Given the description of an element on the screen output the (x, y) to click on. 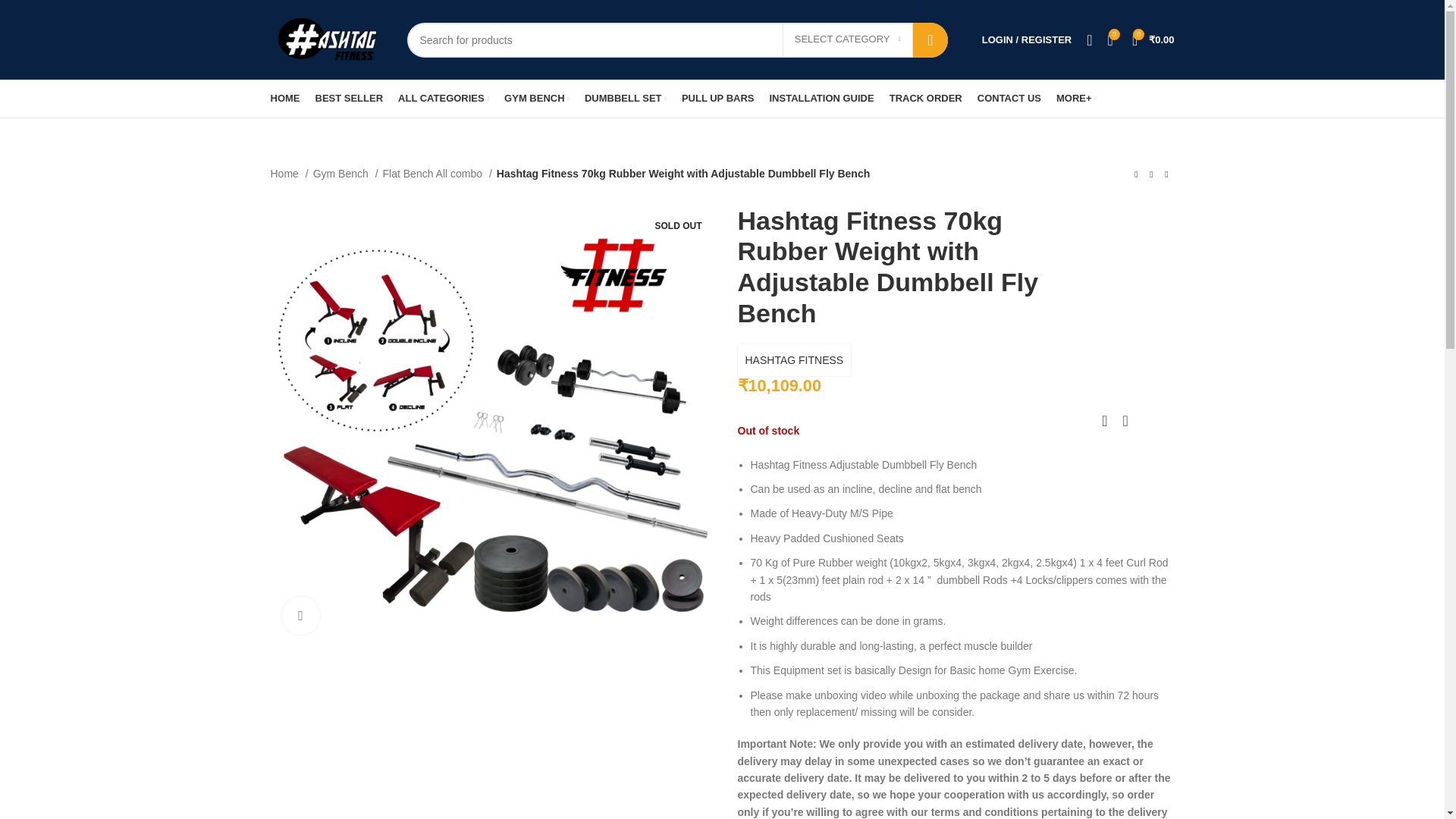
SELECT CATEGORY (847, 40)
SELECT CATEGORY (847, 40)
Shopping cart (1153, 39)
My account (1026, 39)
Search for products (676, 39)
